Given the description of an element on the screen output the (x, y) to click on. 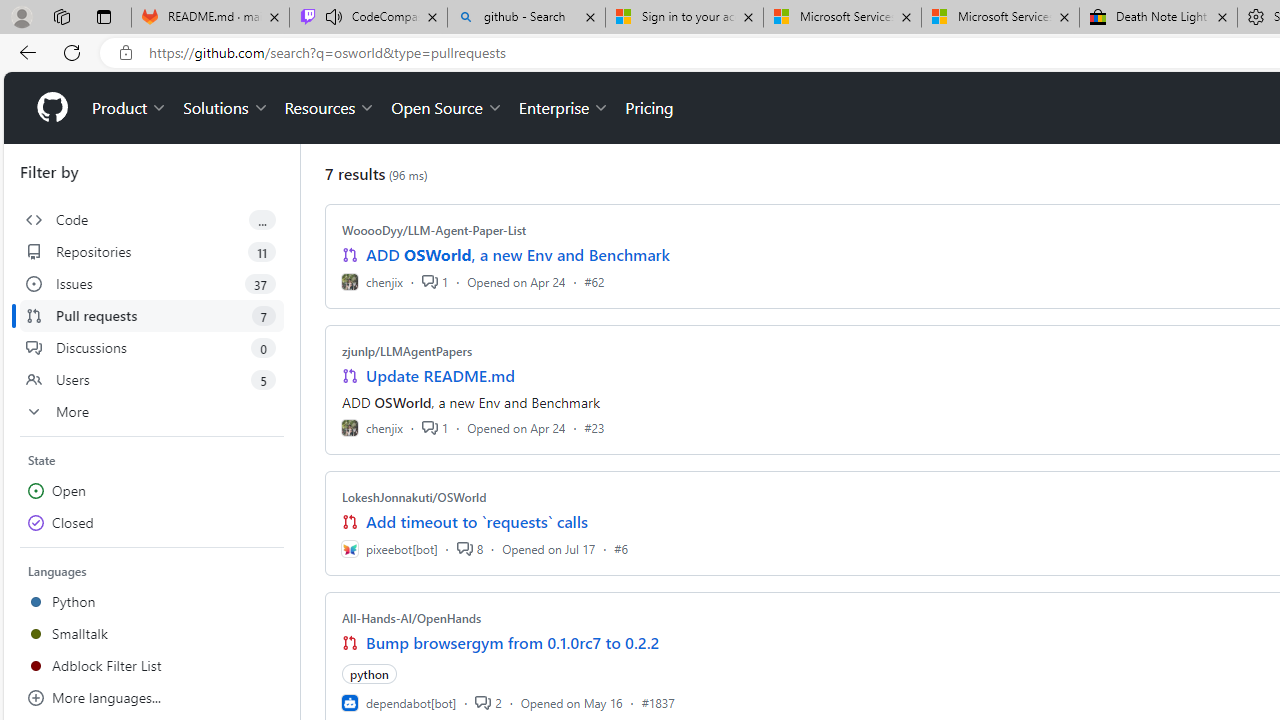
More languages... (152, 697)
More languages... (152, 697)
Enterprise (563, 107)
#23 (594, 427)
#6 (621, 548)
Resources (330, 107)
